Given the description of an element on the screen output the (x, y) to click on. 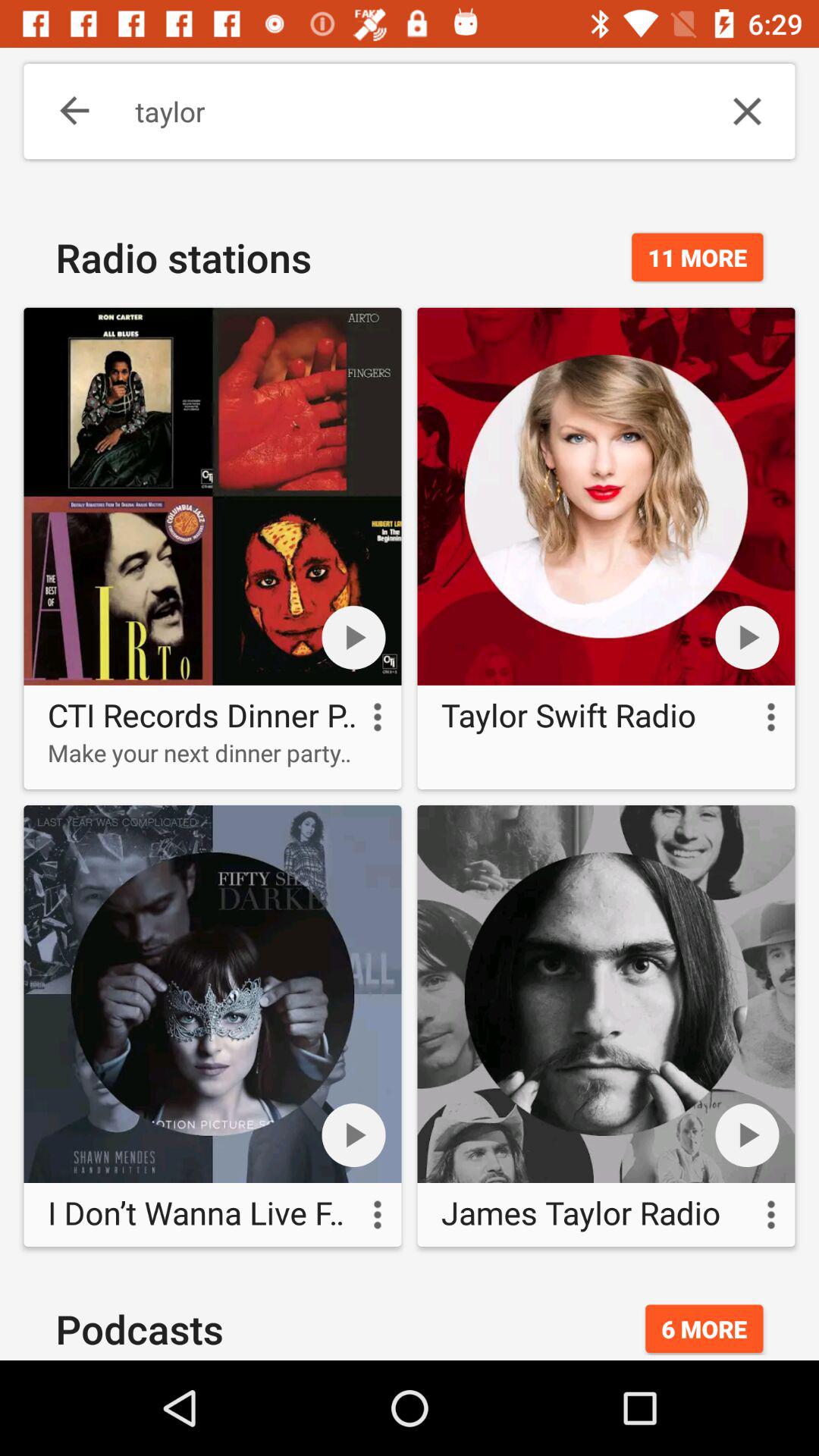
launch the icon next to radio stations (697, 257)
